Given the description of an element on the screen output the (x, y) to click on. 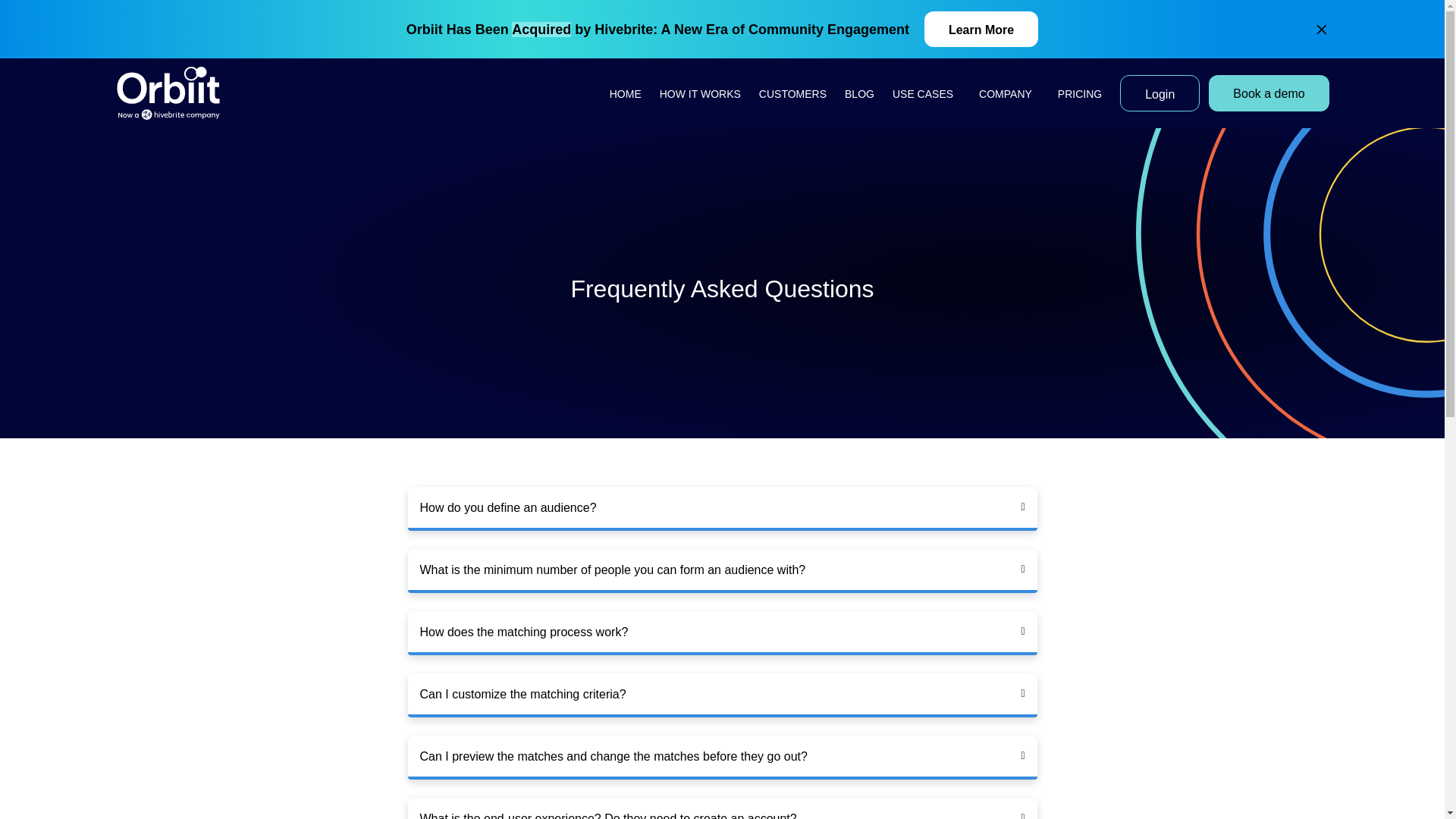
How do you define an audience? (508, 507)
How does the matching process work? (524, 631)
PRICING (1080, 93)
Learn More (981, 28)
Login (1159, 93)
COMPANY (1008, 93)
USE CASES (926, 93)
Book a demo (1267, 92)
